Given the description of an element on the screen output the (x, y) to click on. 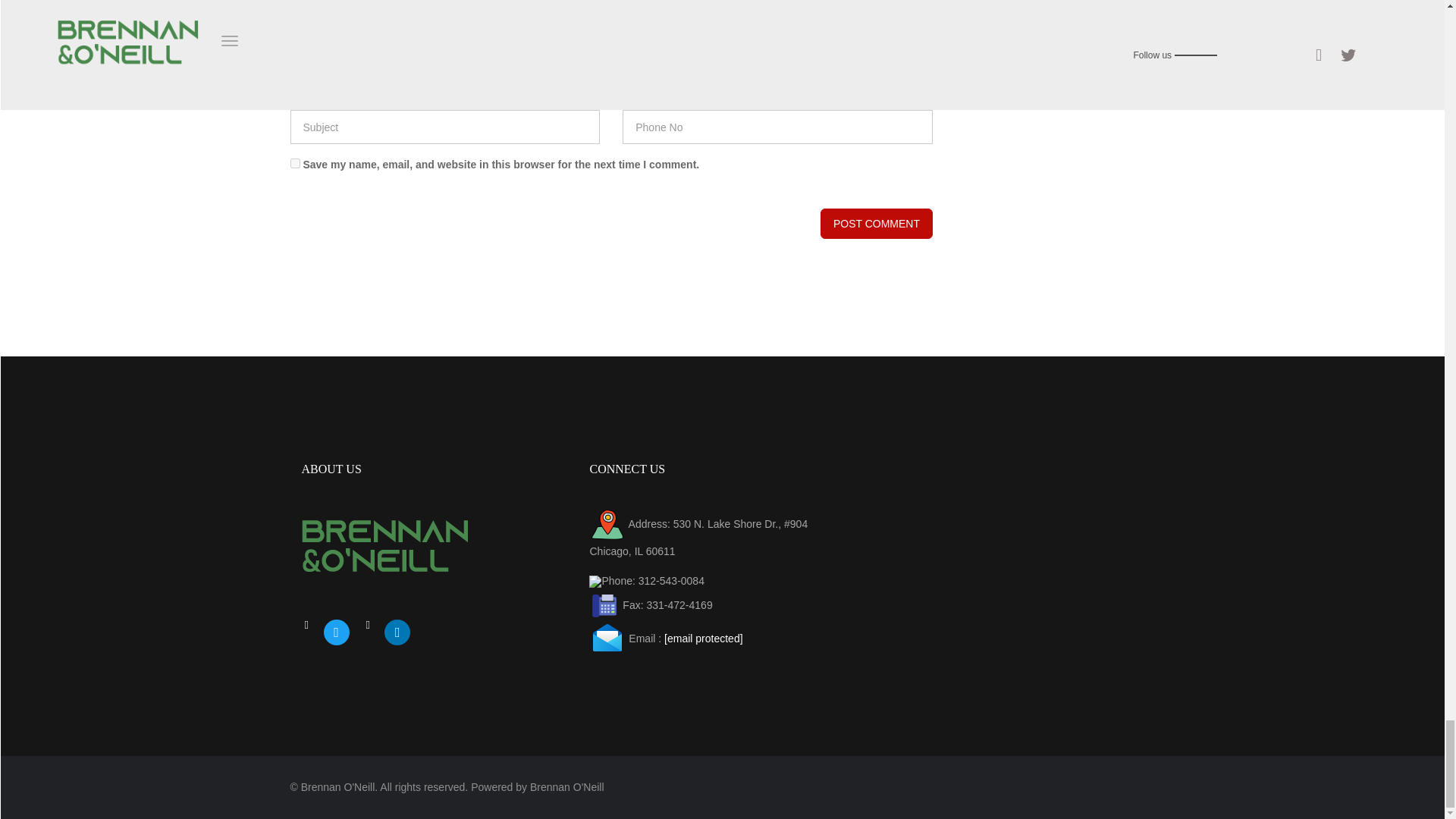
linkedin (397, 631)
yes (294, 163)
Post Comment (877, 223)
twitter (336, 631)
Post Comment (877, 223)
